Given the description of an element on the screen output the (x, y) to click on. 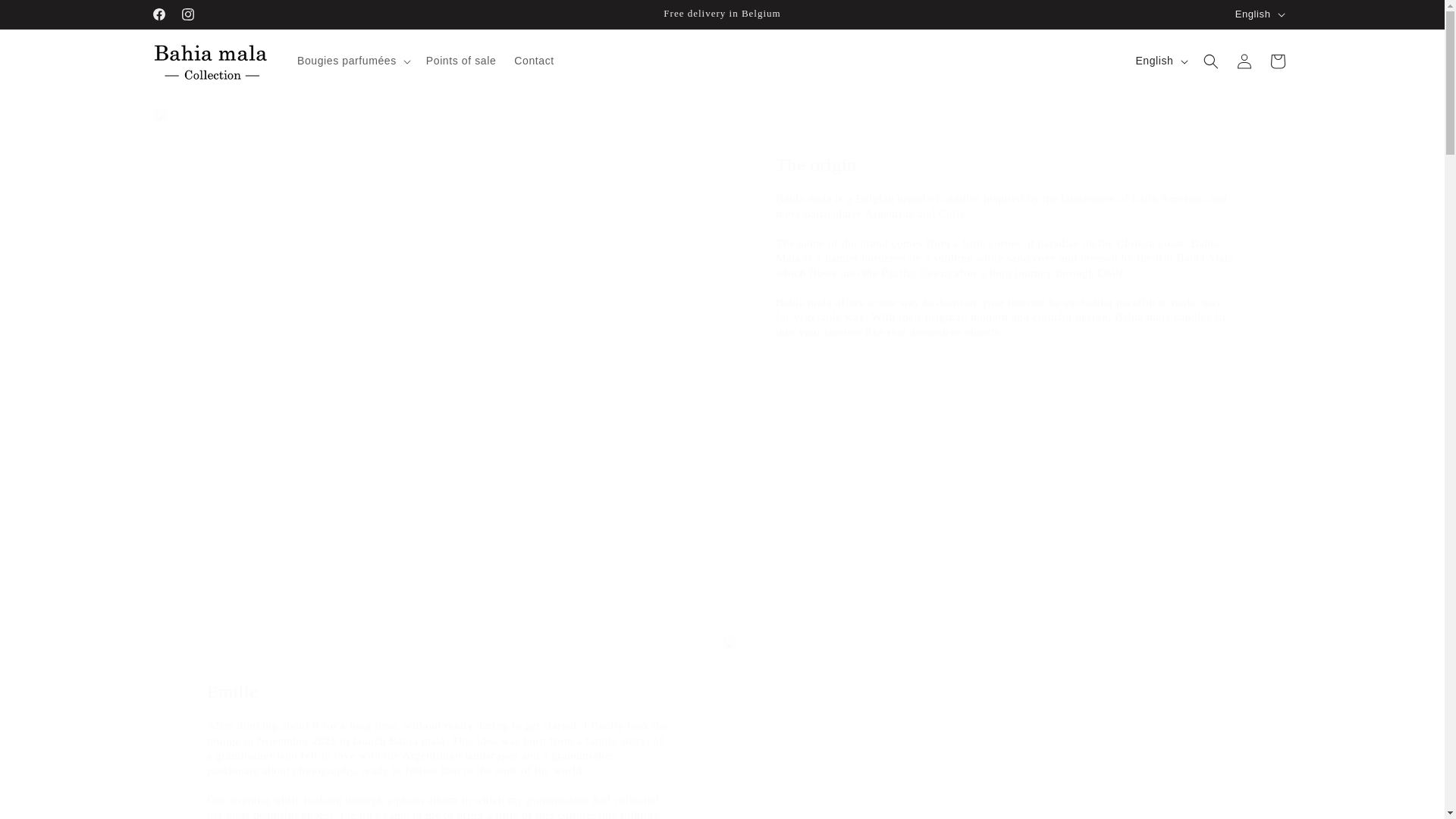
English (1159, 61)
Contact (533, 60)
Cart (1277, 60)
Skip to content (45, 16)
Log in (1243, 60)
English (1258, 14)
Instagram (187, 14)
Points of sale (460, 60)
Facebook (158, 14)
